Given the description of an element on the screen output the (x, y) to click on. 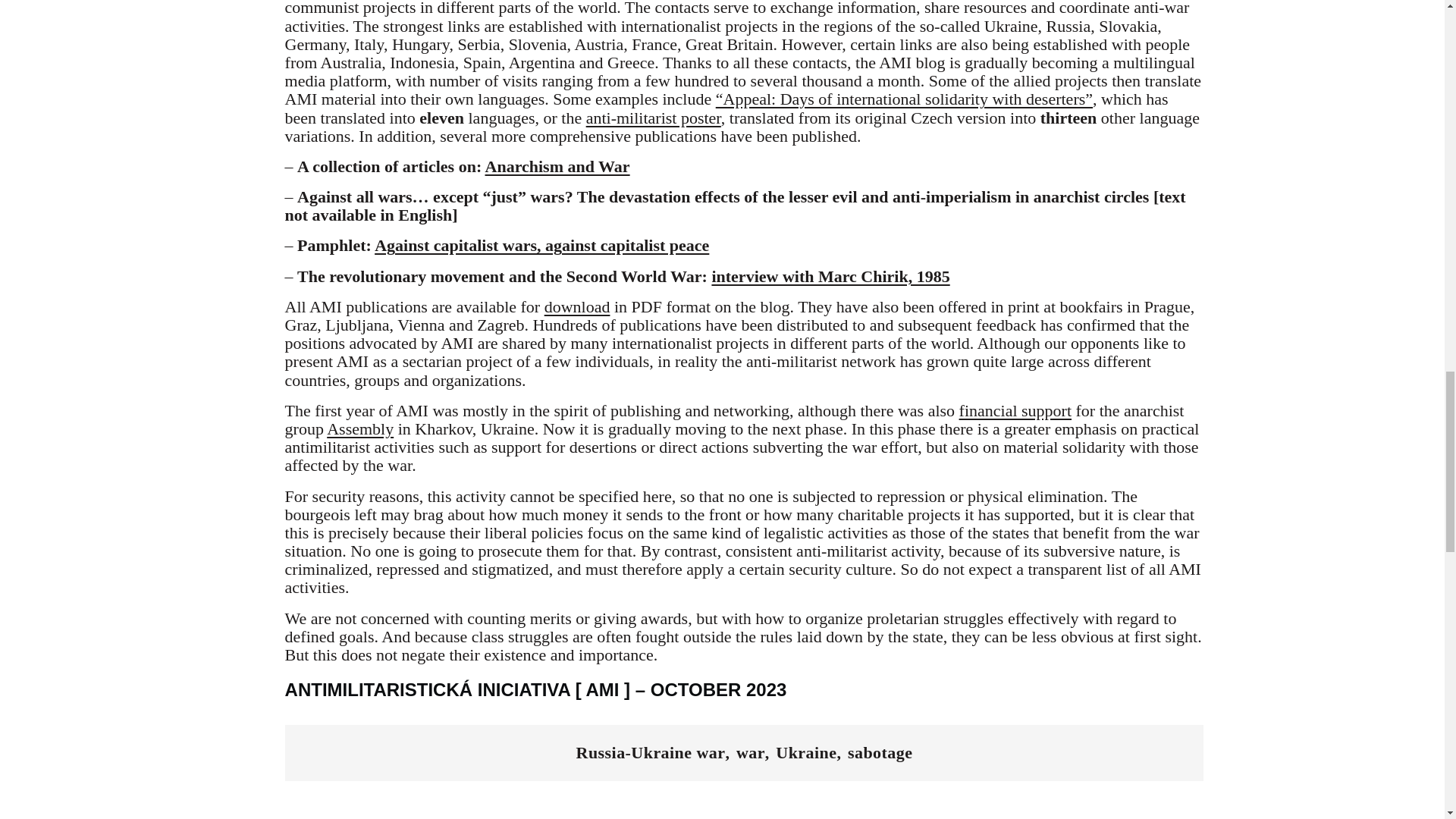
anti-militarist poster (653, 116)
interview with Marc Chirik, 1985 (830, 275)
download (577, 306)
Anarchism and War (557, 166)
Against capitalist wars, against capitalist peace (541, 244)
financial support (1015, 410)
Assembly (359, 428)
